Given the description of an element on the screen output the (x, y) to click on. 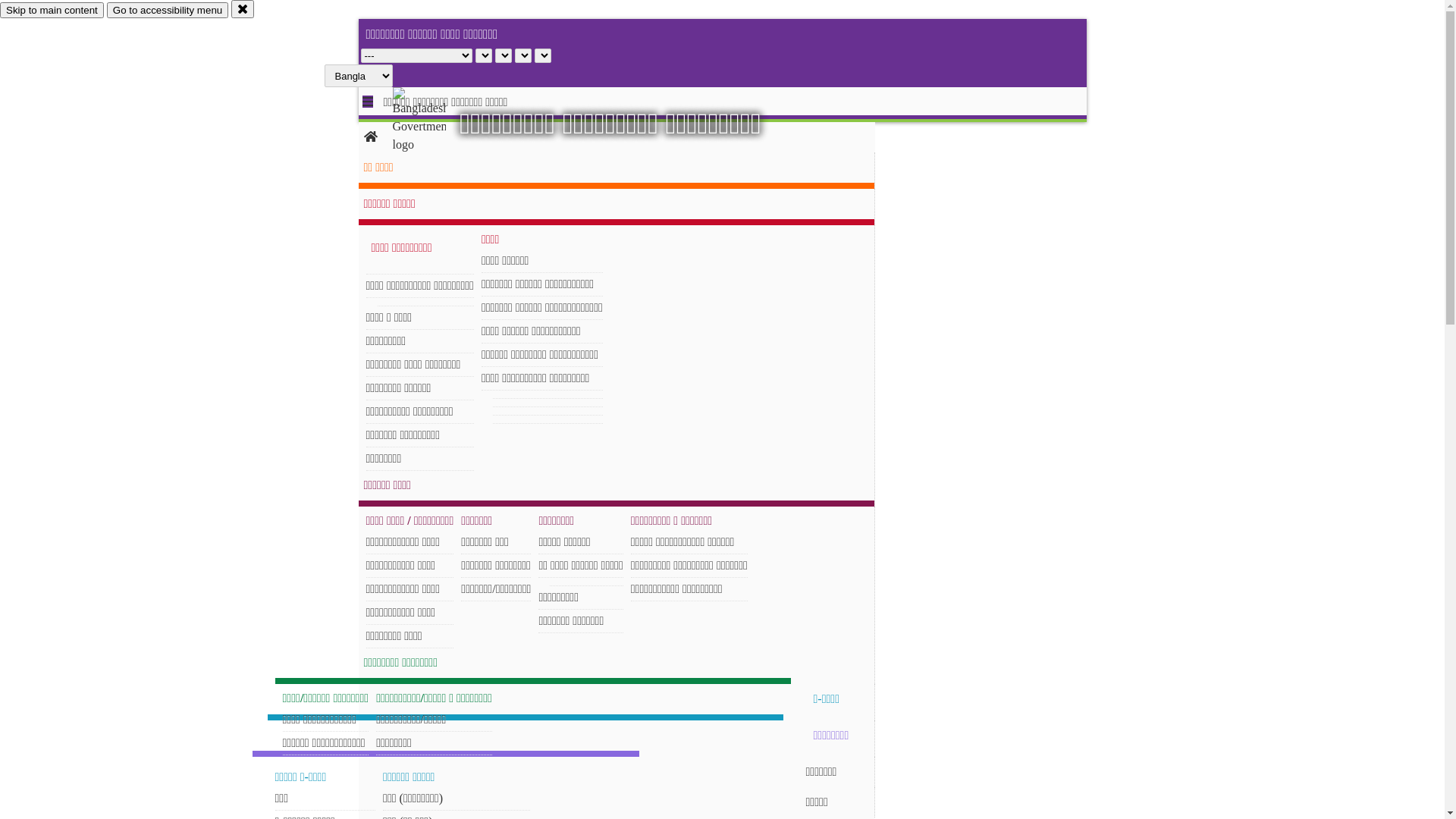
Skip to main content Element type: text (51, 10)

                
             Element type: hover (431, 120)
Go to accessibility menu Element type: text (167, 10)
close Element type: hover (242, 9)
